Given the description of an element on the screen output the (x, y) to click on. 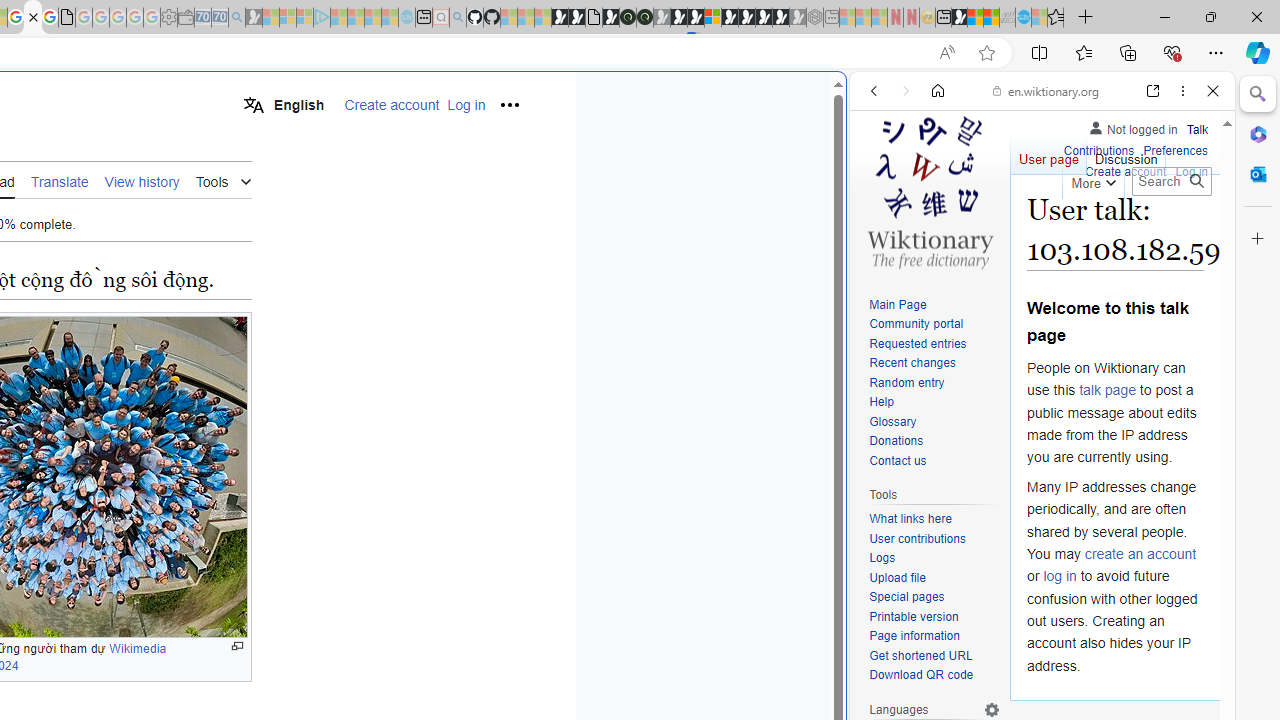
en.wiktionary.org (1046, 90)
View history (141, 180)
Upload file (897, 577)
Donations (934, 442)
Go (1196, 181)
Printable version (934, 616)
Download QR code (934, 676)
Wiktionary (1034, 669)
